Given the description of an element on the screen output the (x, y) to click on. 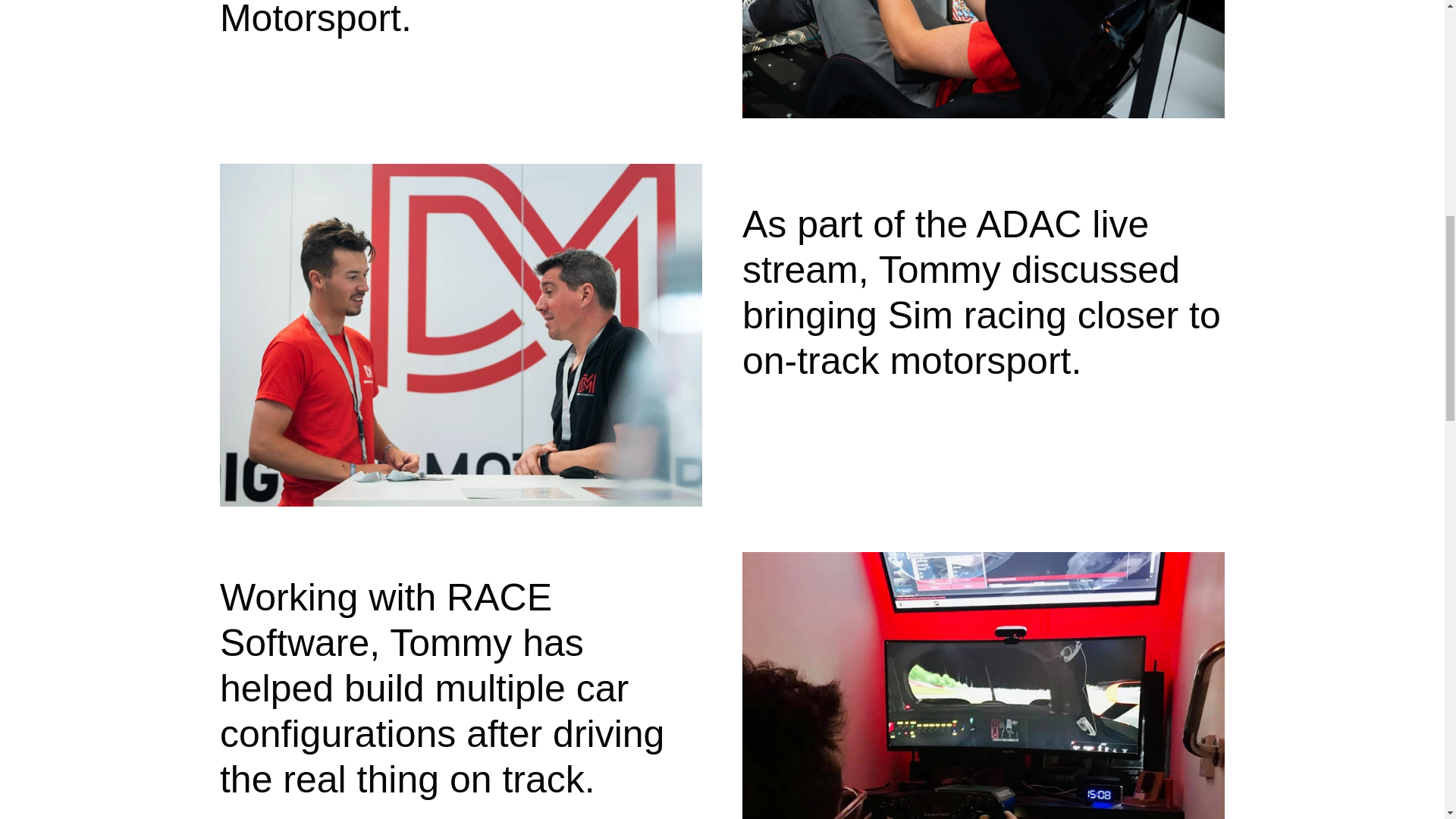
Digital Motorsport (983, 58)
RACE Software (983, 685)
